Given the description of an element on the screen output the (x, y) to click on. 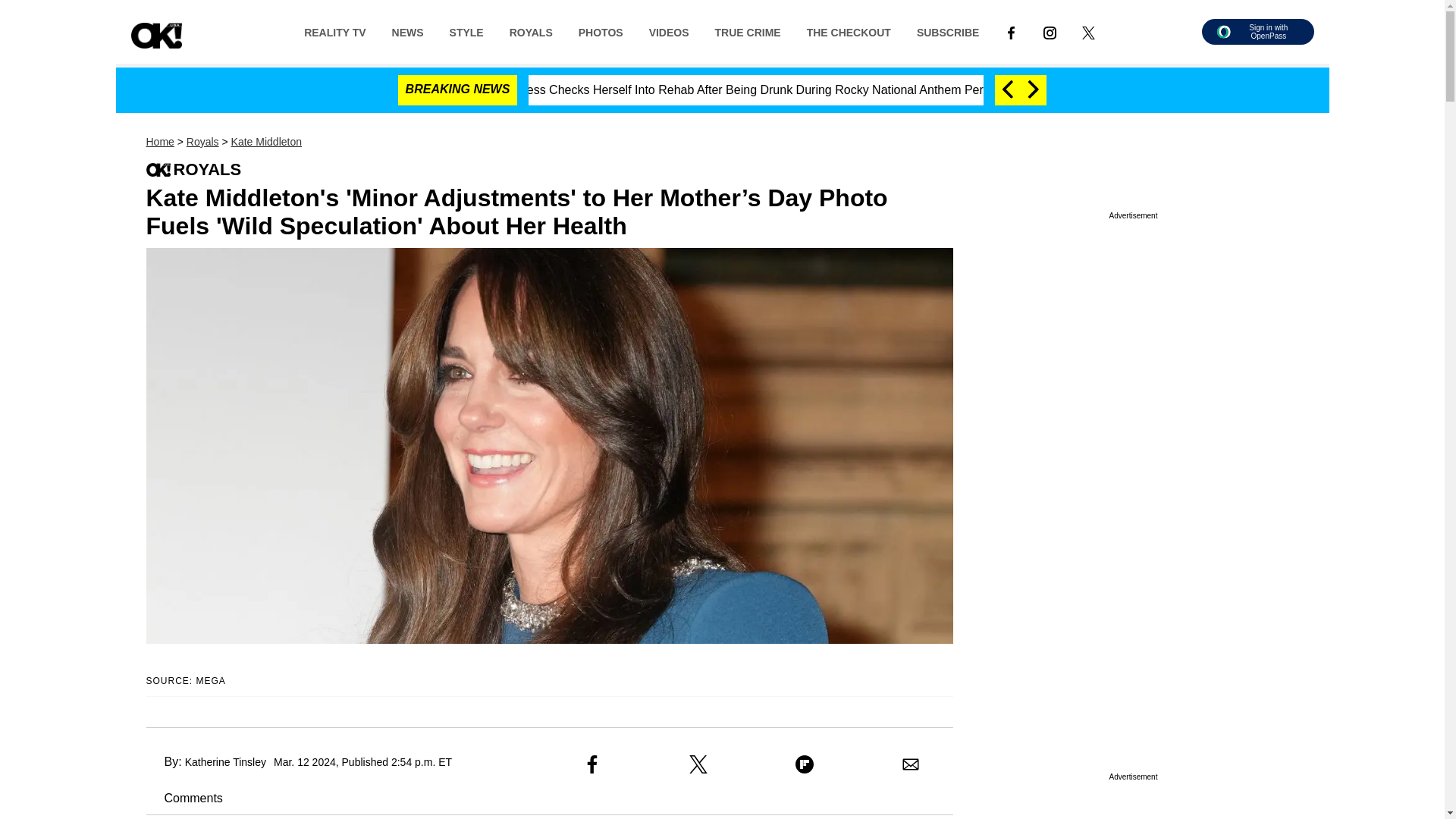
PHOTOS (601, 31)
TRUE CRIME (747, 31)
LINK TO FACEBOOK (1010, 31)
THE CHECKOUT (848, 31)
ROYALS (531, 31)
Share to Facebook (590, 764)
LINK TO X (1088, 31)
Sign in with OpenPass (1257, 31)
REALITY TV (334, 31)
LINK TO X (1087, 32)
LINK TO INSTAGRAM (1050, 32)
Share to Flipboard (803, 764)
Katherine Tinsley (225, 761)
Home (159, 141)
LINK TO FACEBOOK (1010, 32)
